Given the description of an element on the screen output the (x, y) to click on. 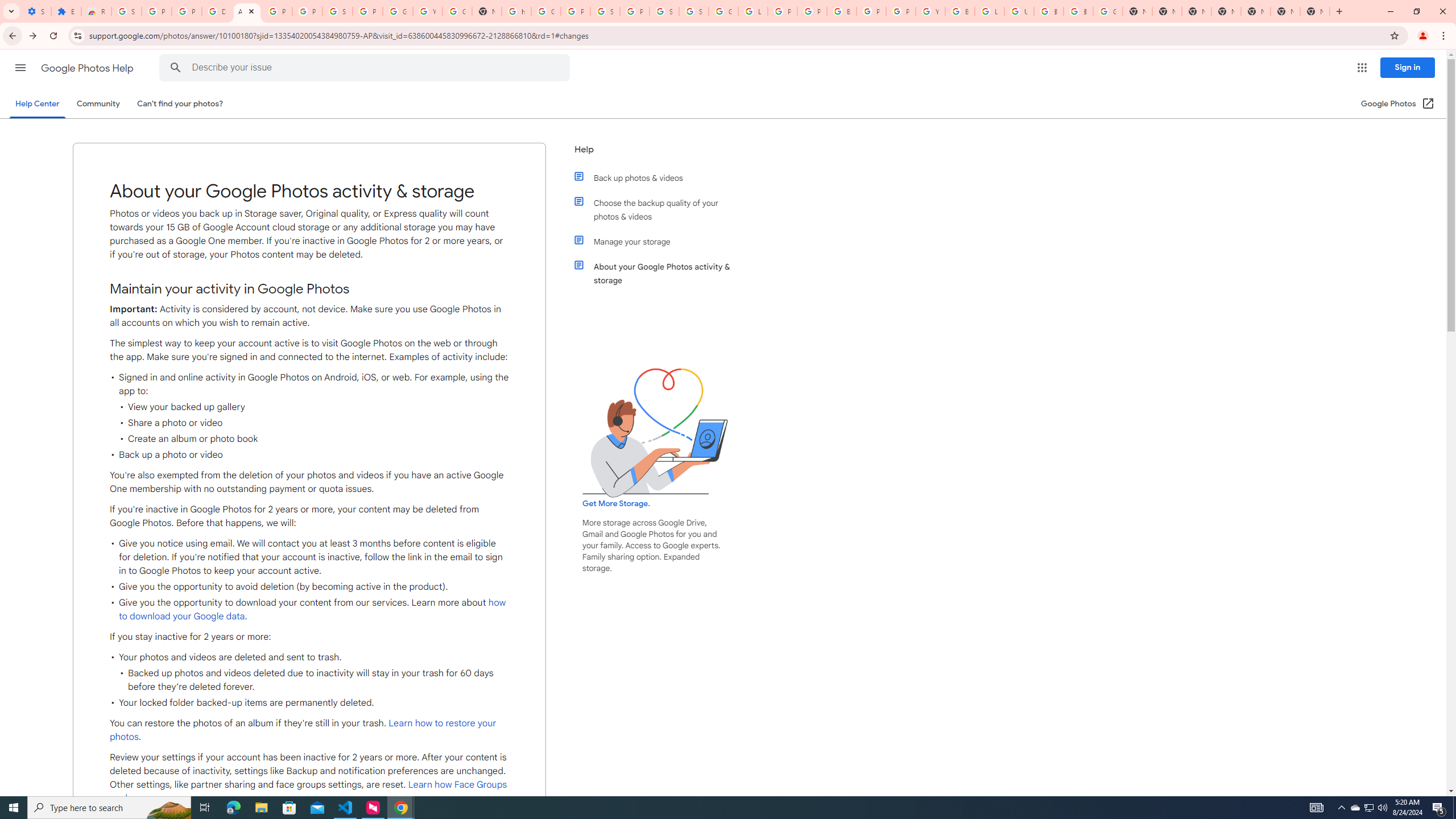
New Tab (1226, 11)
Sign in (1407, 67)
Sign in - Google Accounts (604, 11)
Help (656, 153)
Extensions (65, 11)
Privacy Help Center - Policies Help (811, 11)
